Given the description of an element on the screen output the (x, y) to click on. 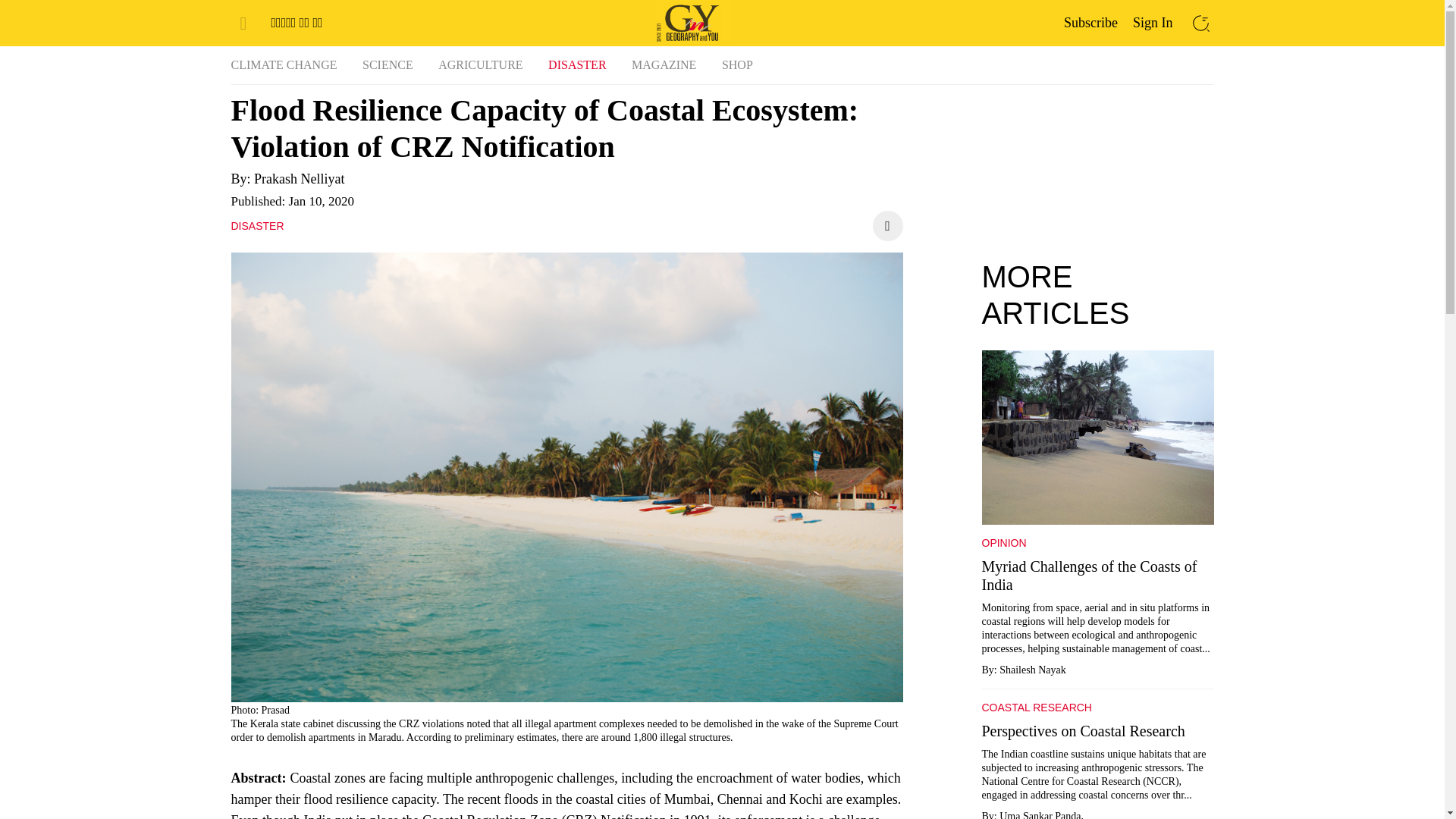
Download PDF file (887, 225)
DISASTER (576, 65)
CLIMATE CHANGE (283, 65)
Subscribe (1091, 22)
Prakash Nelliyat (298, 178)
Sign In (1152, 22)
SCIENCE (387, 65)
DISASTER (256, 225)
SHOP (737, 65)
AGRICULTURE (480, 65)
MAGAZINE (663, 65)
